Given the description of an element on the screen output the (x, y) to click on. 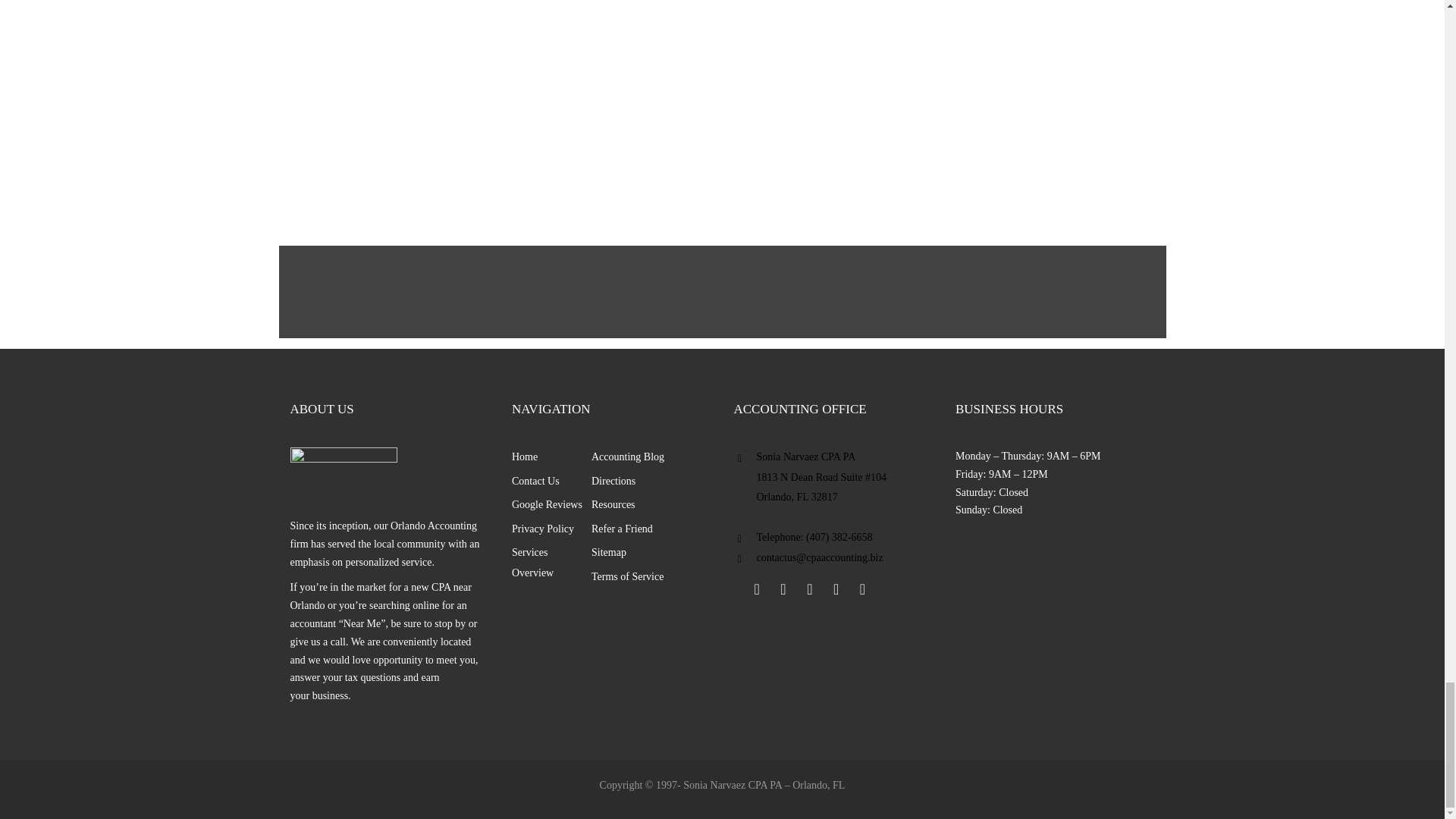
Facebook (756, 588)
Twitter (783, 588)
Youtube (835, 588)
Linked In (809, 588)
Instagram (861, 588)
